Given the description of an element on the screen output the (x, y) to click on. 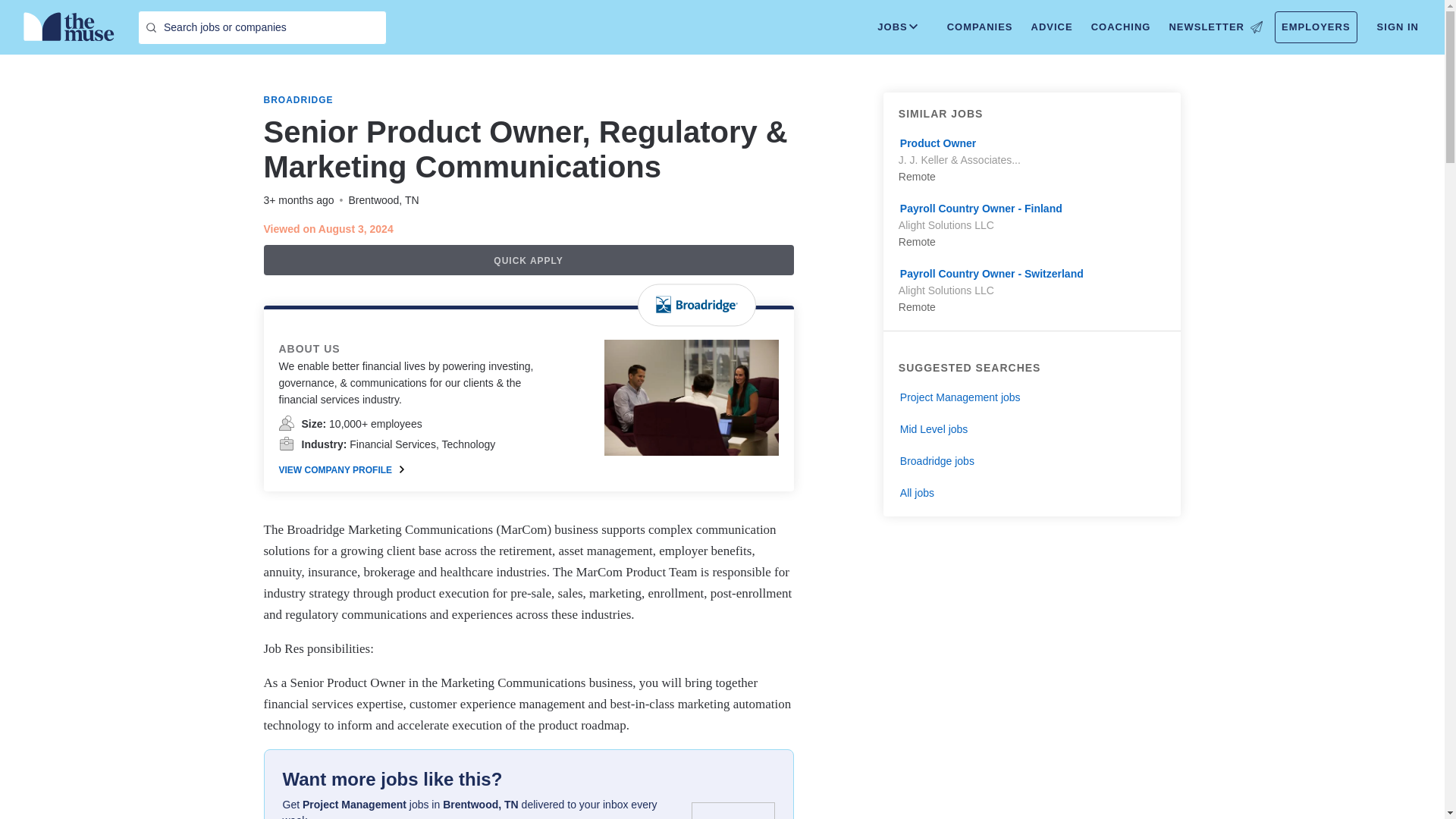
NEWSLETTER (1214, 27)
QUICK APPLY (528, 259)
BROADRIDGE (298, 100)
ADVICE (1051, 27)
COACHING (1120, 27)
COMPANIES (979, 27)
VIEW COMPANY PROFILE (341, 469)
SIGN IN (1398, 27)
EMPLOYERS (1315, 27)
